Given the description of an element on the screen output the (x, y) to click on. 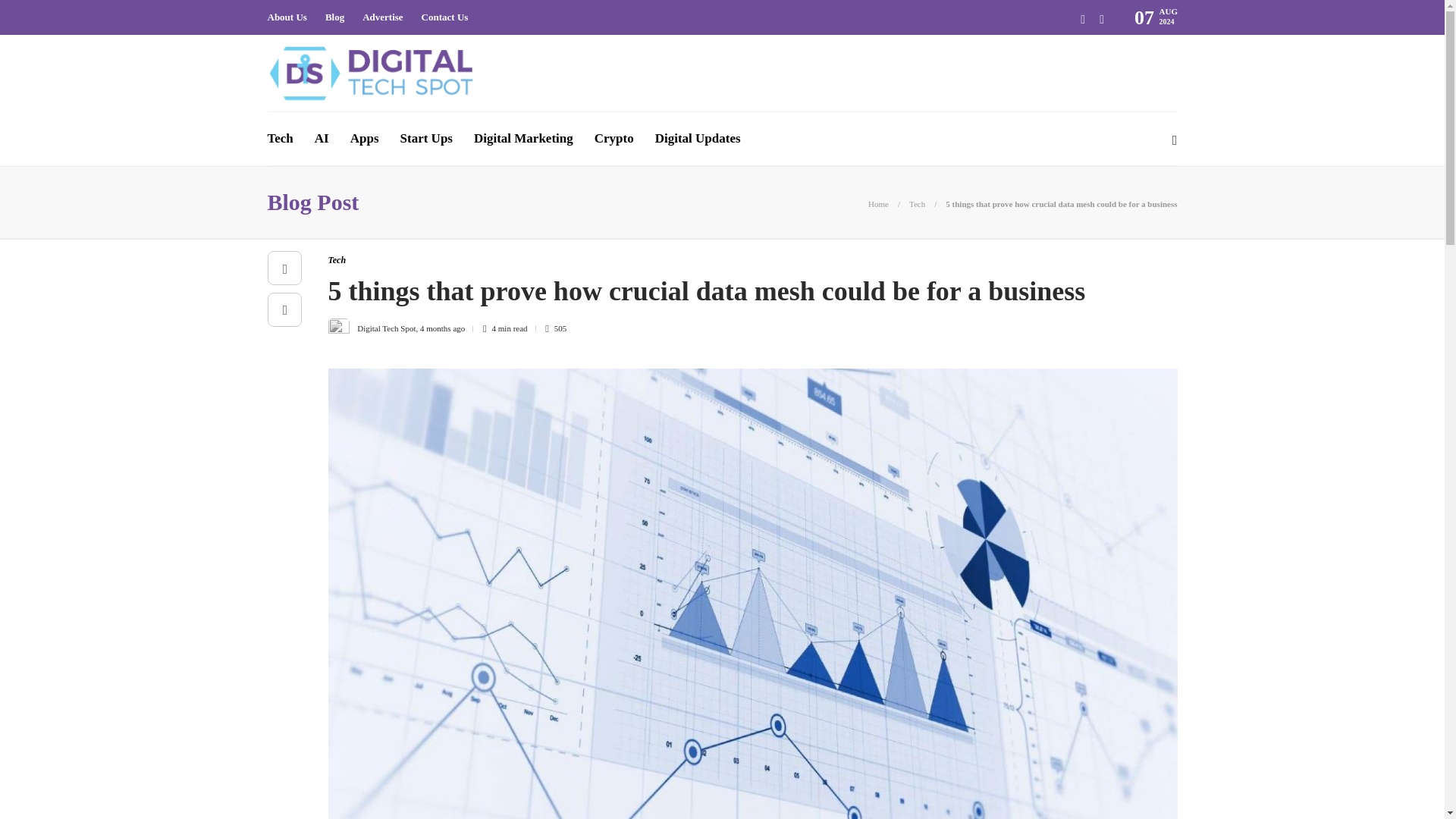
Tech (916, 203)
Contact Us (445, 17)
Advertise (382, 17)
Digital Tech Spot (385, 327)
Digital Marketing (523, 138)
Start Ups (426, 138)
Tech (336, 259)
Digital Updates (698, 138)
